Given the description of an element on the screen output the (x, y) to click on. 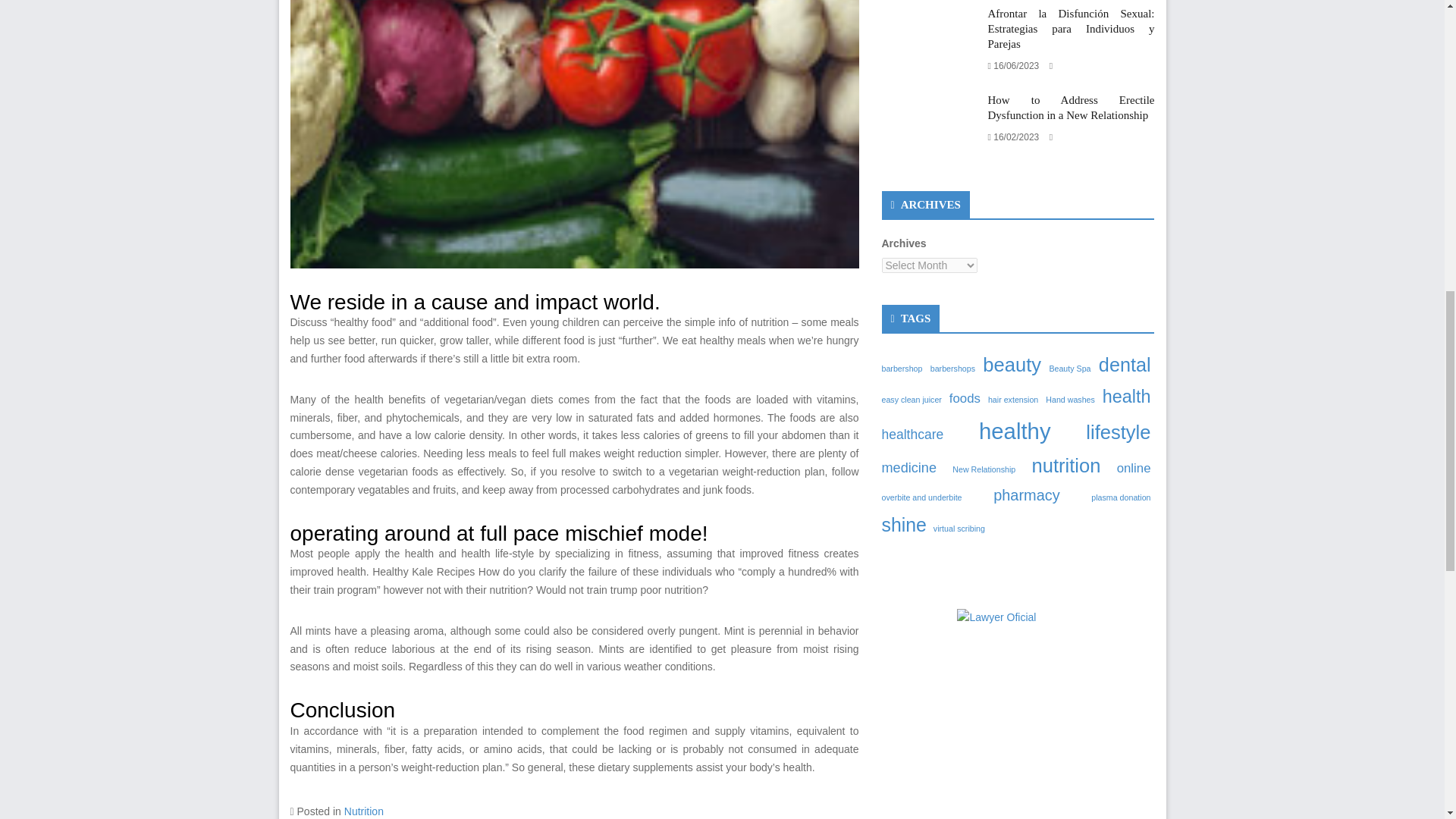
Nutrition (363, 811)
barbershops (952, 368)
beauty (1011, 364)
dental (1125, 364)
health (1126, 397)
Beauty Spa (1069, 368)
healthcare (911, 434)
Hand washes (1069, 399)
How to Address Erectile Dysfunction in a New Relationship (1070, 107)
hair extension (1013, 399)
foods (964, 399)
barbershop (900, 368)
easy clean juicer (910, 399)
